Given the description of an element on the screen output the (x, y) to click on. 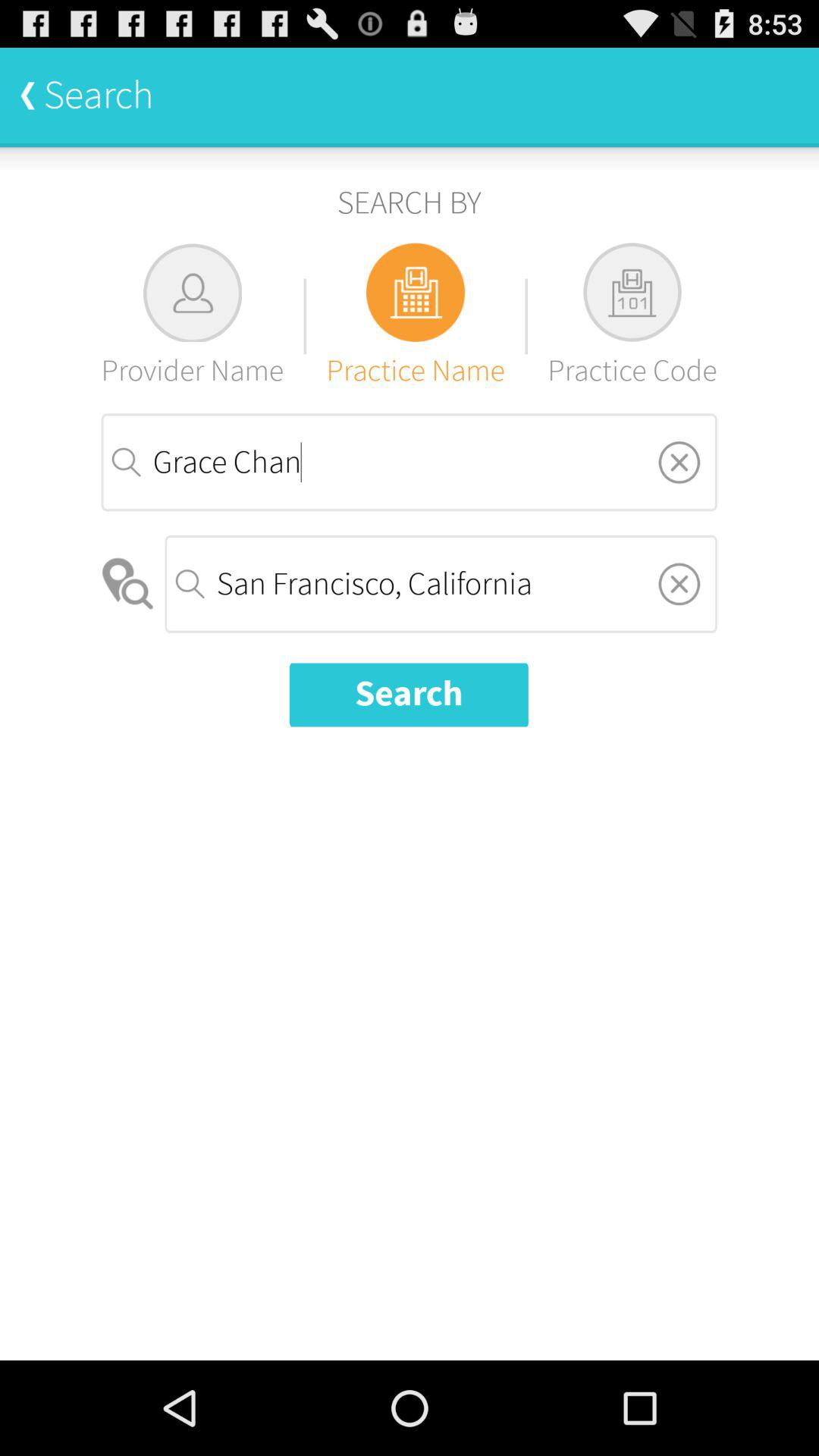
select item below grace chan item (440, 584)
